Given the description of an element on the screen output the (x, y) to click on. 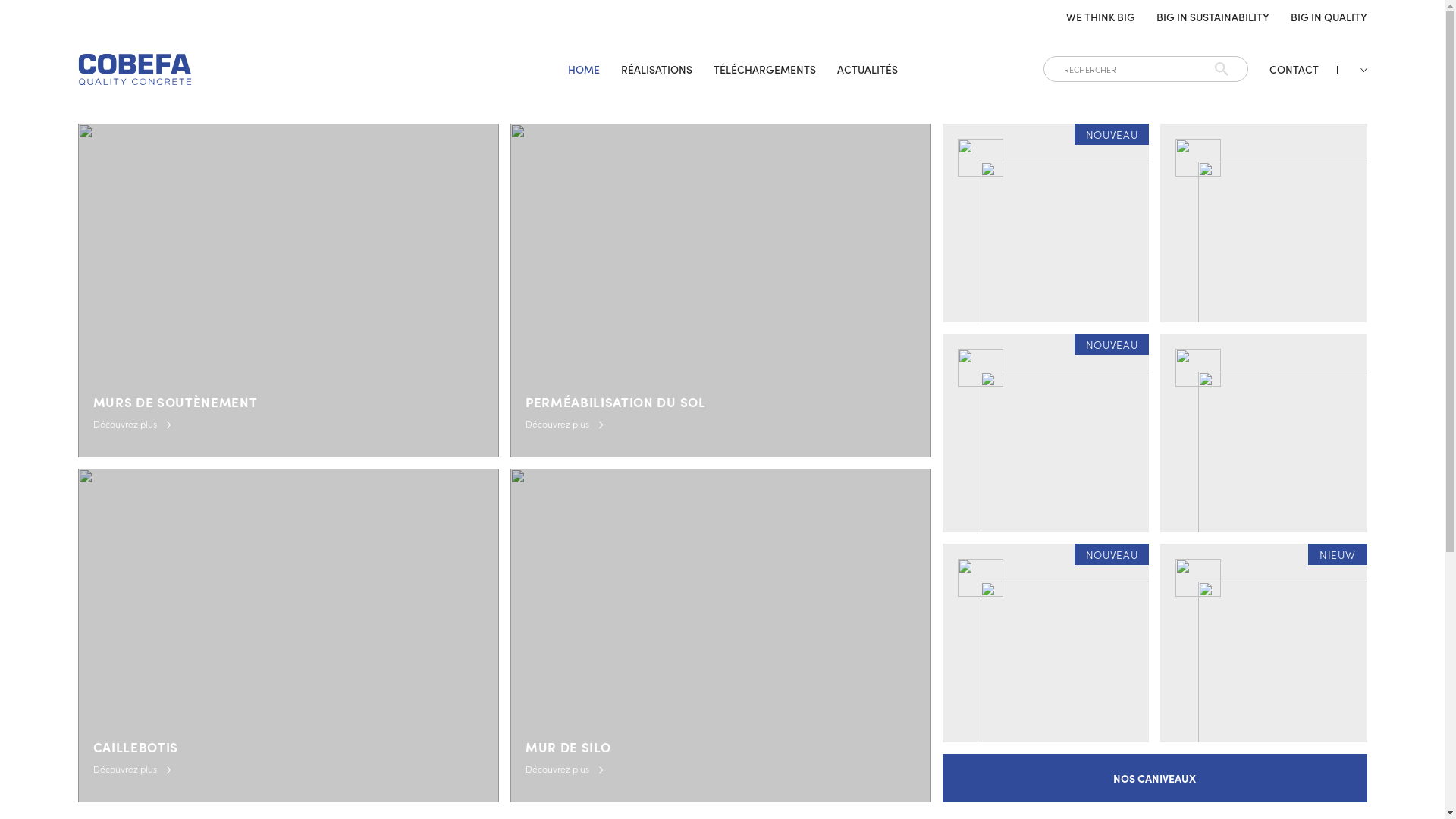
NOUVEAU Element type: text (1045, 432)
NIEUW Element type: text (1263, 642)
BIG IN QUALITY Element type: text (1328, 16)
HOME Element type: text (583, 68)
NOUVEAU Element type: text (1045, 222)
CONTACT Element type: text (1293, 68)
BIG IN SUSTAINABILITY Element type: text (1211, 16)
NOUVEAU Element type: text (1045, 642)
NOS CANIVEAUX Element type: text (1154, 777)
WE THINK BIG Element type: text (1100, 16)
